Given the description of an element on the screen output the (x, y) to click on. 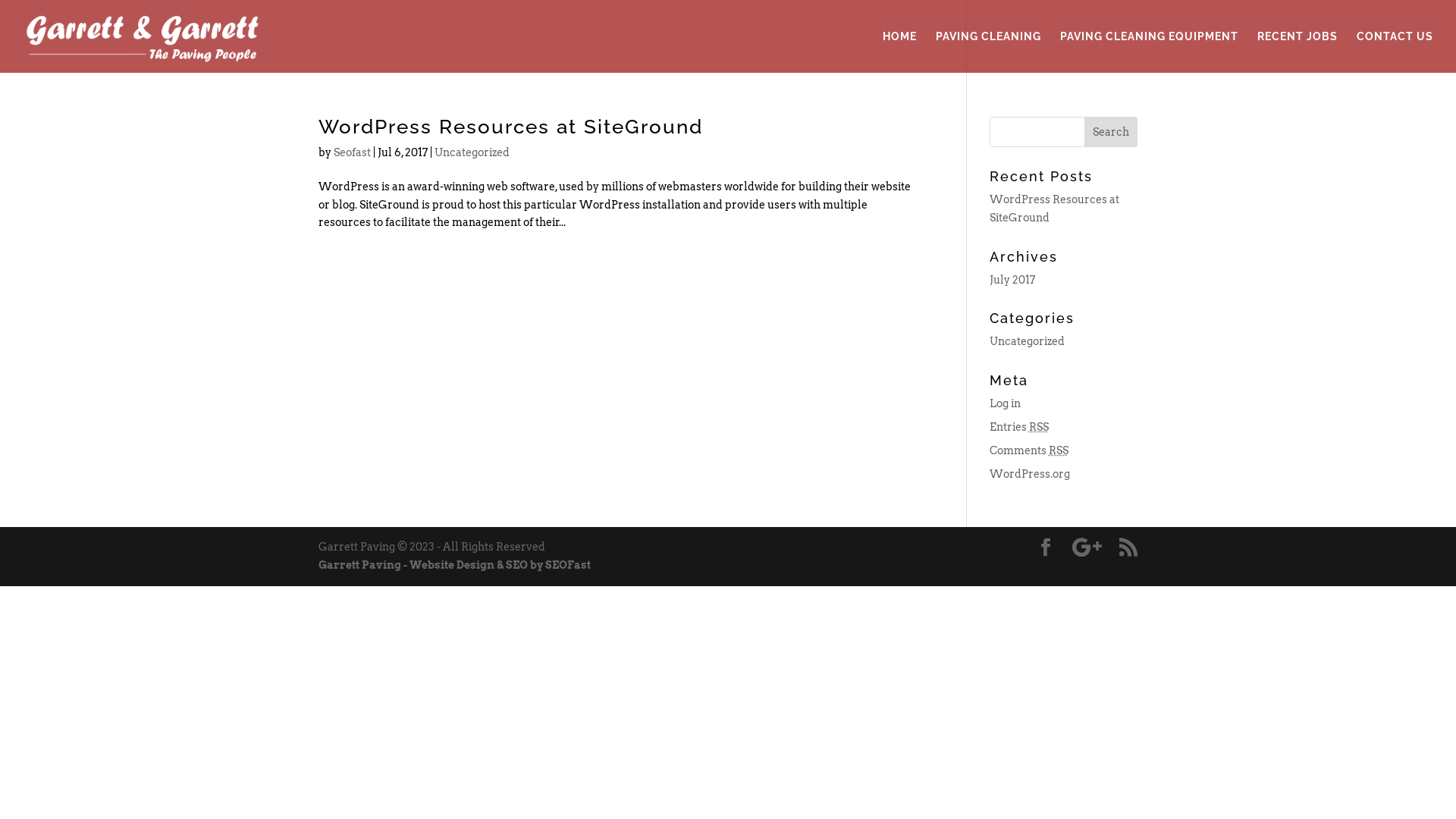
HOME Element type: text (899, 51)
WordPress.org Element type: text (1029, 473)
Uncategorized Element type: text (471, 152)
Uncategorized Element type: text (1026, 341)
RECENT JOBS Element type: text (1297, 51)
July 2017 Element type: text (1012, 279)
WordPress Resources at SiteGround Element type: text (510, 126)
Garrett Paving - Website Design & SEO by SEOFast Element type: text (454, 564)
PAVING CLEANING Element type: text (988, 51)
Seofast Element type: text (351, 152)
WordPress Resources at SiteGround Element type: text (1054, 208)
PAVING CLEANING EQUIPMENT Element type: text (1149, 51)
Entries RSS Element type: text (1018, 426)
Log in Element type: text (1004, 403)
Comments RSS Element type: text (1028, 450)
Search Element type: text (1110, 131)
CONTACT US Element type: text (1394, 51)
